Given the description of an element on the screen output the (x, y) to click on. 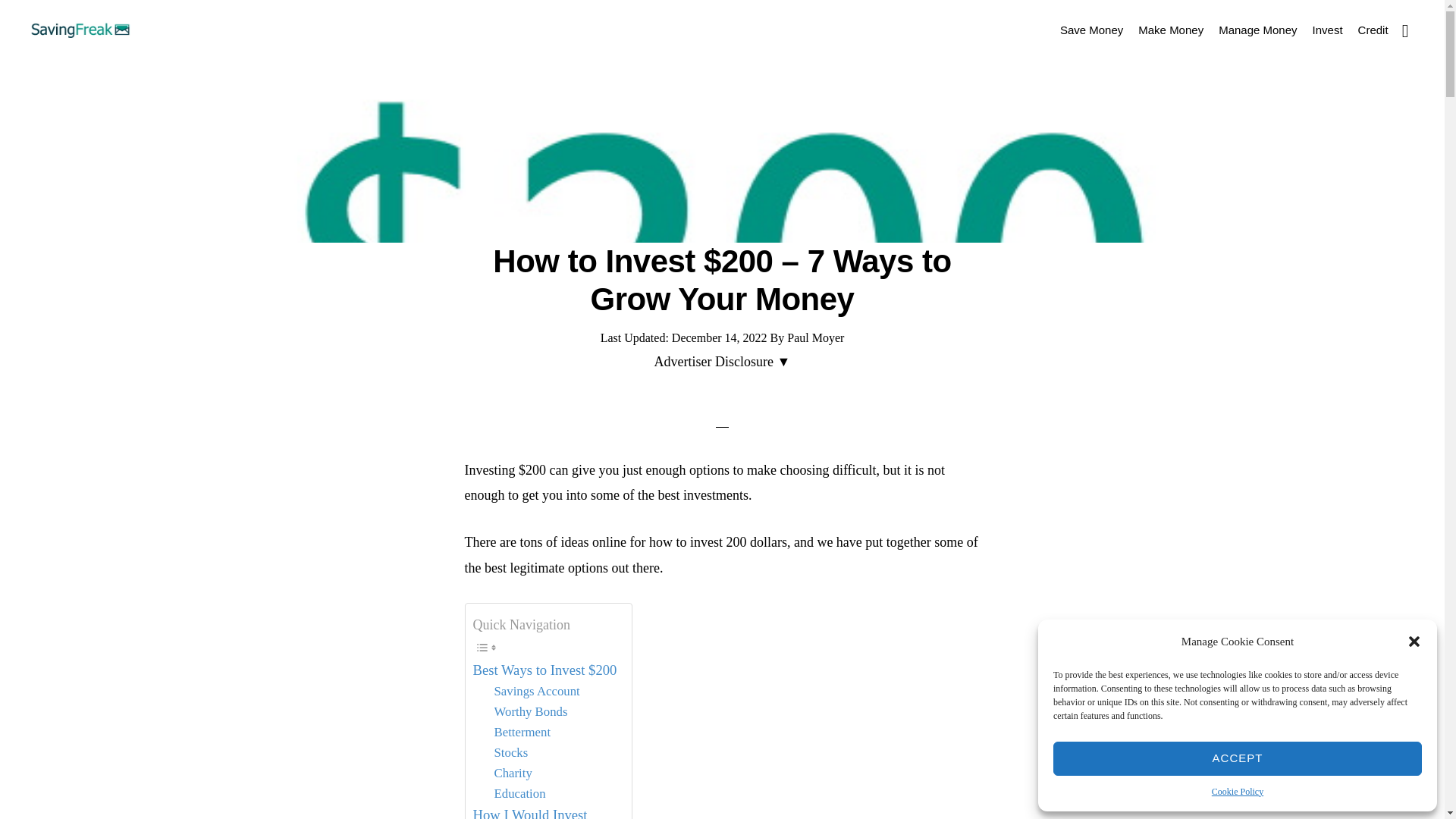
Stocks (511, 752)
Save Money (1091, 29)
Betterment (523, 732)
Education (520, 793)
How I Would Invest (530, 811)
ACCEPT (1237, 758)
Worthy Bonds (531, 711)
Cookie Policy (1237, 791)
Savings Account (537, 691)
Make Money (1171, 29)
Invest (1327, 29)
Charity (513, 773)
Manage Money (1257, 29)
